Given the description of an element on the screen output the (x, y) to click on. 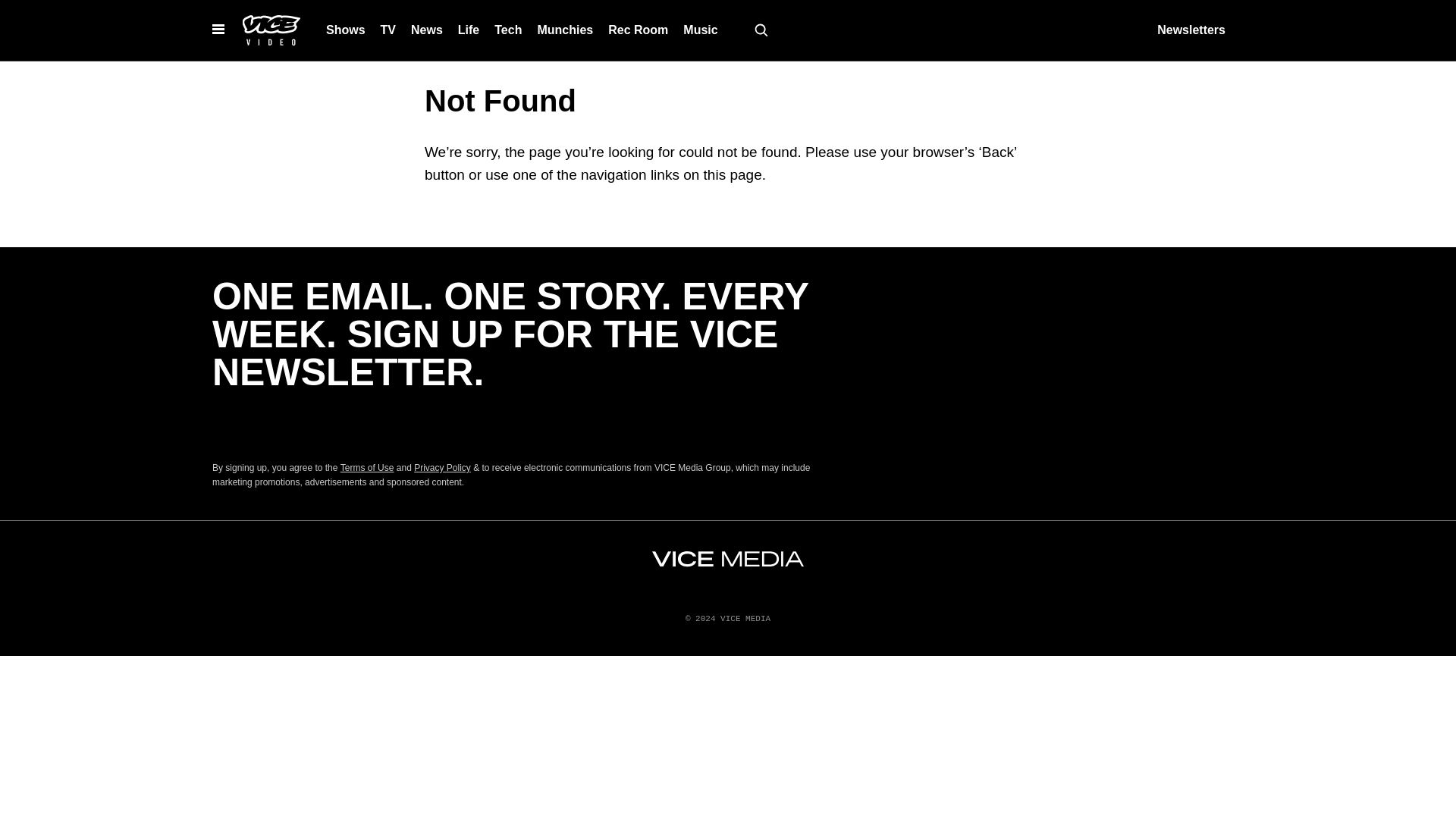
Open Menu (217, 30)
Newsletters (1191, 29)
Newsletter Signup Form (515, 425)
Privacy Policy (441, 467)
Terms of Use (367, 467)
VICE MEDIA (727, 559)
Munchies (564, 29)
Tech (507, 29)
News (426, 29)
Shows (345, 29)
